Given the description of an element on the screen output the (x, y) to click on. 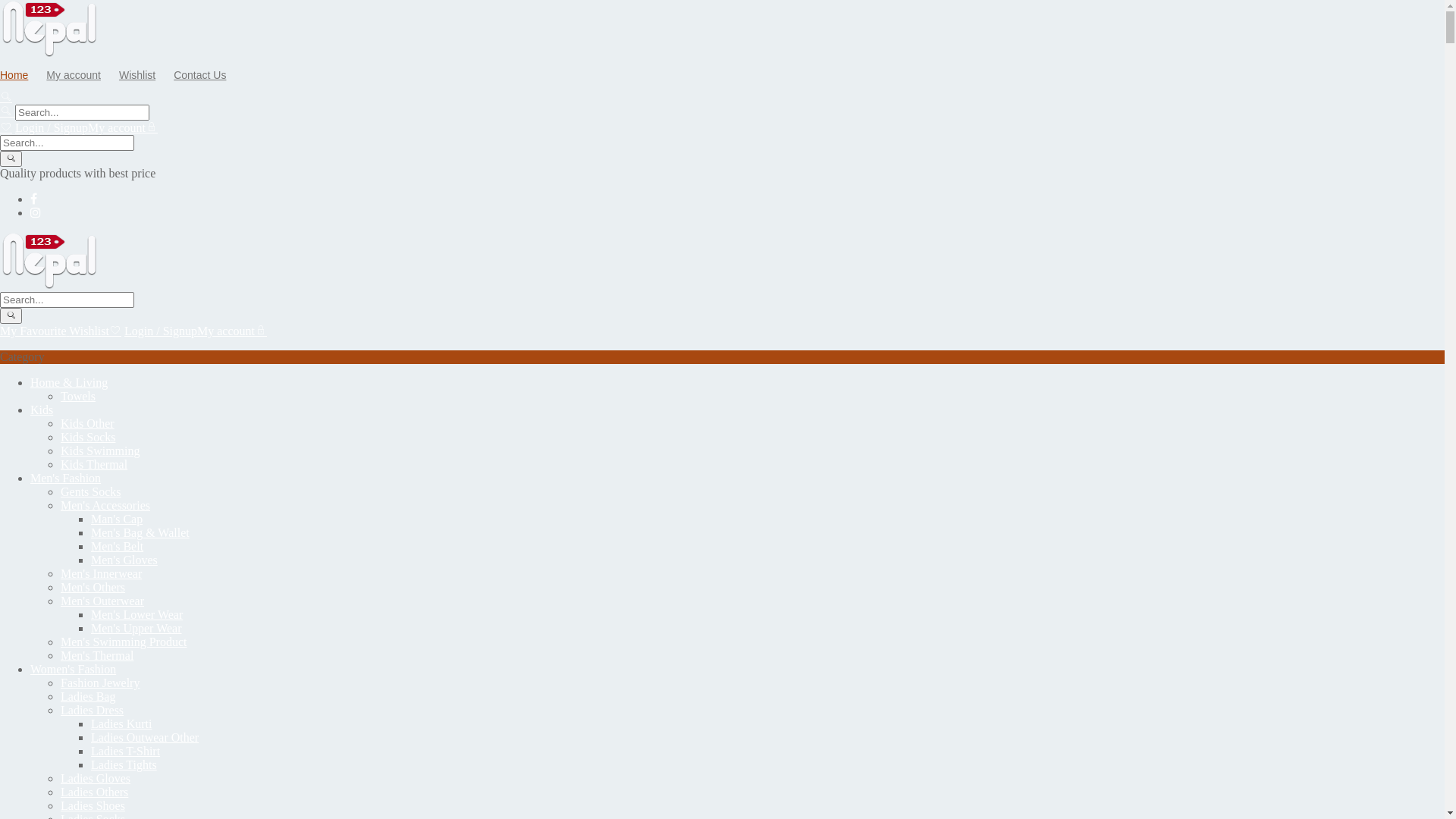
Ladies Shoes Element type: text (92, 805)
Ladies Gloves Element type: text (95, 777)
Men's Outerwear Element type: text (102, 600)
Men's Bag & Wallet Element type: text (140, 532)
Wishlist Element type: text (144, 74)
Submit Element type: text (10, 158)
Home & Living Element type: text (68, 382)
Kids Thermal Element type: text (93, 464)
Men's Swimming Product Element type: text (123, 641)
Search Element type: hover (82, 112)
Men's Lower Wear Element type: text (136, 614)
Women's Fashion Element type: text (73, 668)
Ladies Tights Element type: text (123, 764)
Ladies Kurti Element type: text (121, 723)
Login / SignupMy account Element type: text (195, 330)
Search Element type: hover (67, 142)
Ladies T-Shirt Element type: text (125, 750)
Ladies Outwear Other Element type: text (144, 737)
Ladies Bag Element type: text (87, 696)
Kids Other Element type: text (87, 423)
Contact Us Element type: text (207, 74)
Men's Upper Wear Element type: text (136, 627)
Kids Socks Element type: text (87, 436)
Search Element type: hover (67, 299)
Submit Element type: text (10, 315)
Men's Gloves Element type: text (124, 559)
Men's Fashion Element type: text (65, 477)
Men's Innerwear Element type: text (100, 573)
Men's Accessories Element type: text (105, 504)
Men's Thermal Element type: text (96, 655)
My account Element type: text (81, 74)
Man's Cap Element type: text (116, 518)
Kids Swimming Element type: text (99, 450)
Men's Others Element type: text (92, 586)
Kids Element type: text (41, 409)
Gents Socks Element type: text (90, 491)
Ladies Dress Element type: text (91, 709)
Men's Belt Element type: text (117, 545)
My Favourite Wishlist Element type: text (60, 330)
Towels Element type: text (77, 395)
Ladies Others Element type: text (94, 791)
Home Element type: text (21, 74)
Login / SignupMy account Element type: text (86, 127)
Fashion Jewelry Element type: text (99, 682)
